Given the description of an element on the screen output the (x, y) to click on. 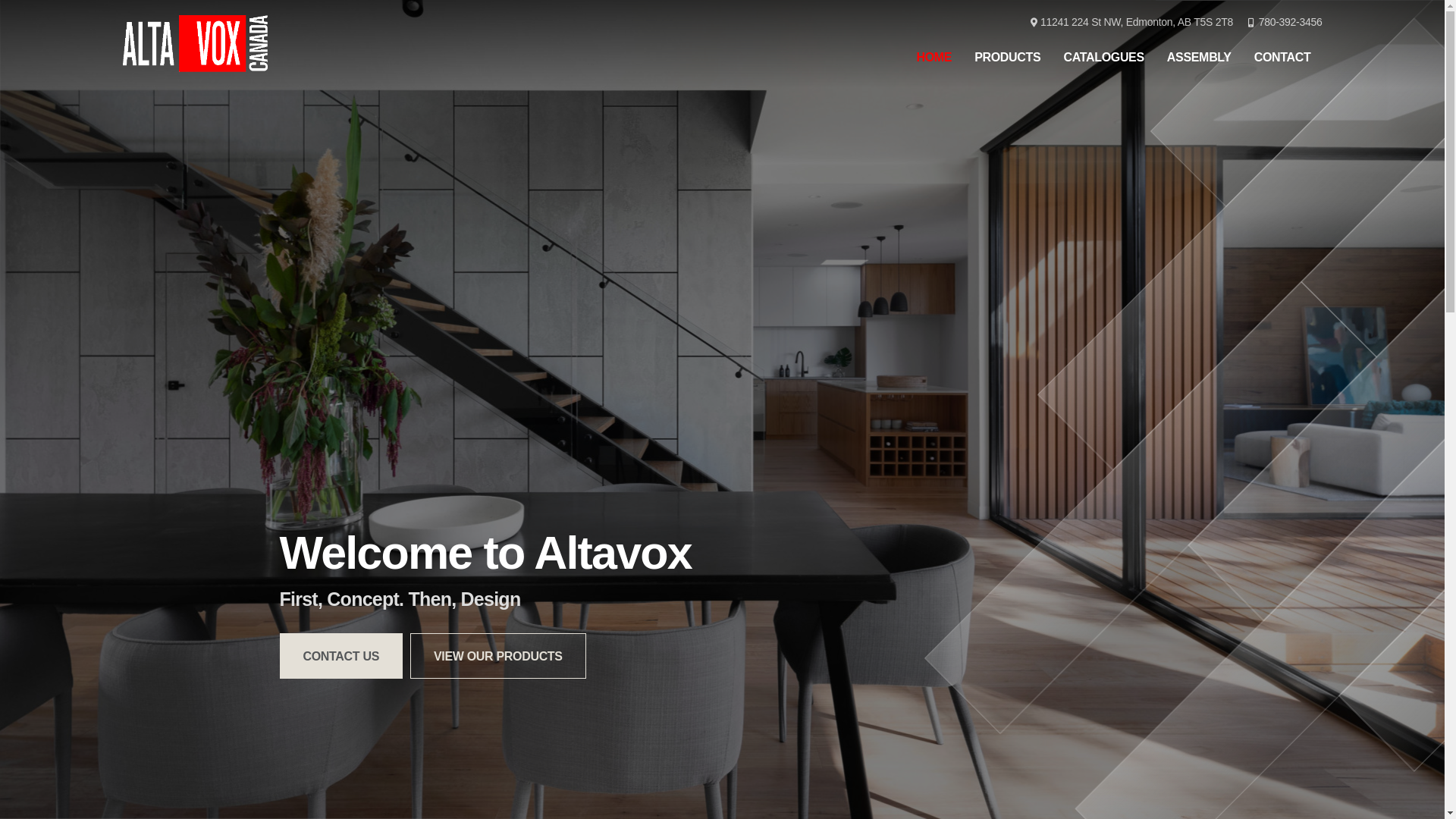
VIEW OUR PRODUCTS Element type: text (498, 655)
780-392-3456 Element type: text (1285, 22)
ASSEMBLY Element type: text (1198, 56)
11241 224 St NW, Edmonton, AB T5S 2T8 Element type: text (1131, 22)
CATALOGUES Element type: text (1102, 56)
CONTACT Element type: text (1282, 56)
CONTACT US Element type: text (340, 655)
PRODUCTS Element type: text (1007, 56)
HOME Element type: text (933, 56)
